Given the description of an element on the screen output the (x, y) to click on. 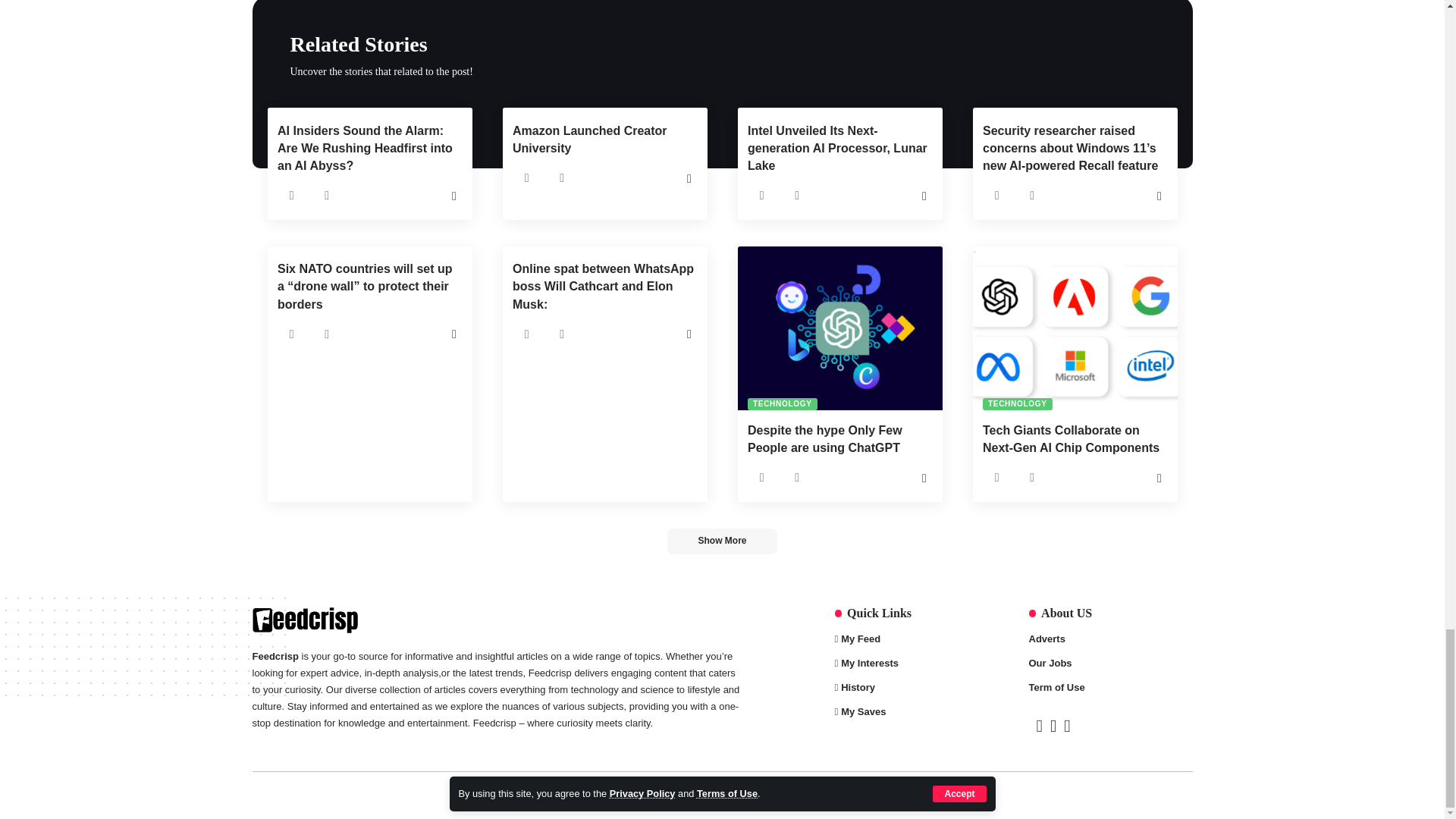
Despite the hype Only Few People are using ChatGPT (839, 328)
Tech Giants Collaborate on Next-Gen AI Chip Components (1074, 328)
